Given the description of an element on the screen output the (x, y) to click on. 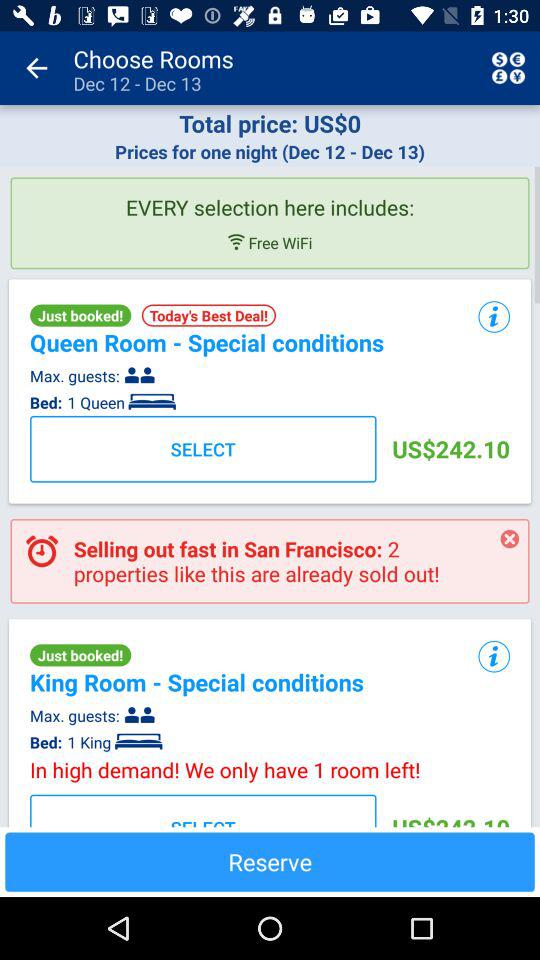
open app to the left of the choose rooms dec item (36, 68)
